Given the description of an element on the screen output the (x, y) to click on. 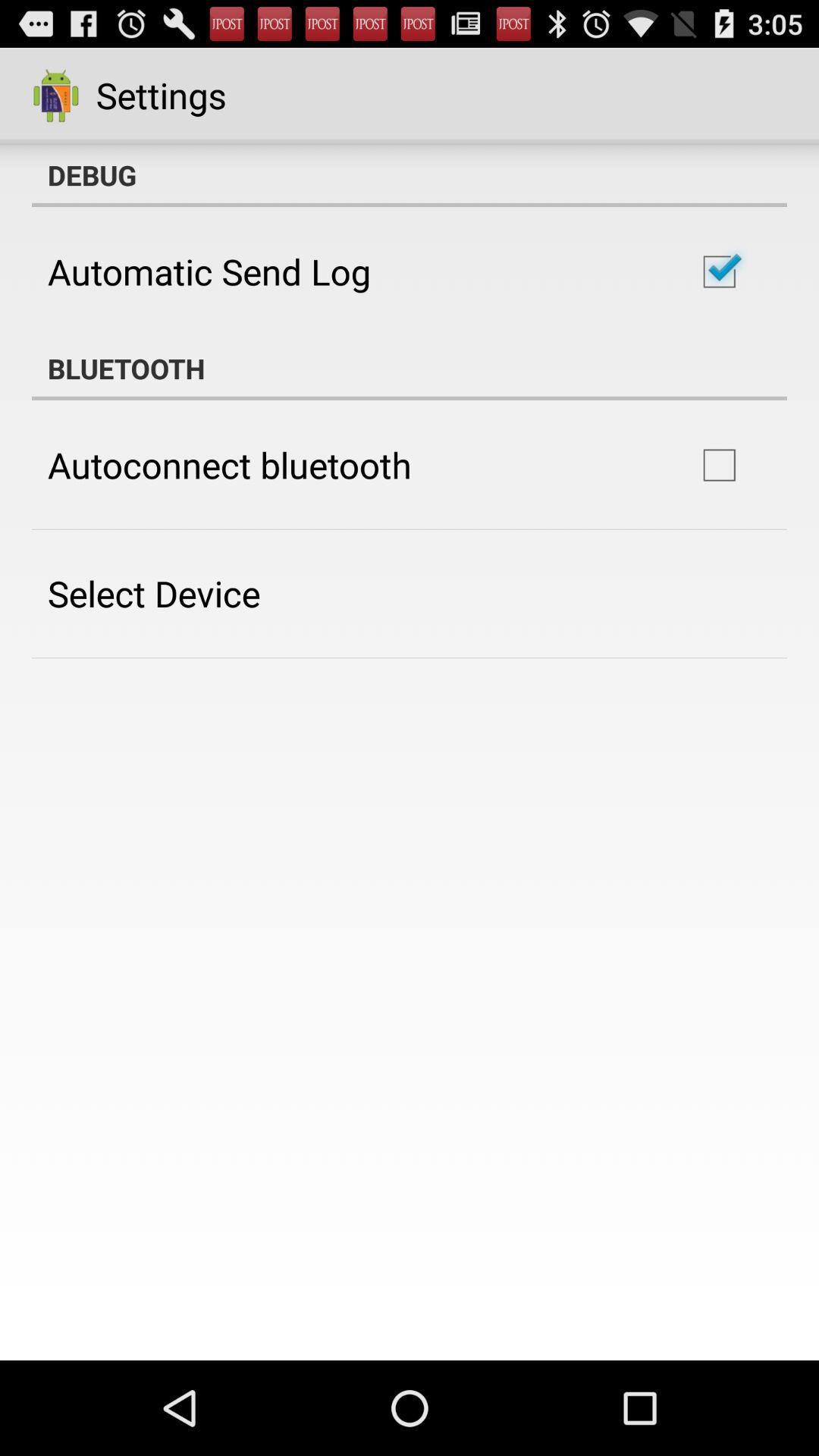
swipe to debug item (409, 175)
